Given the description of an element on the screen output the (x, y) to click on. 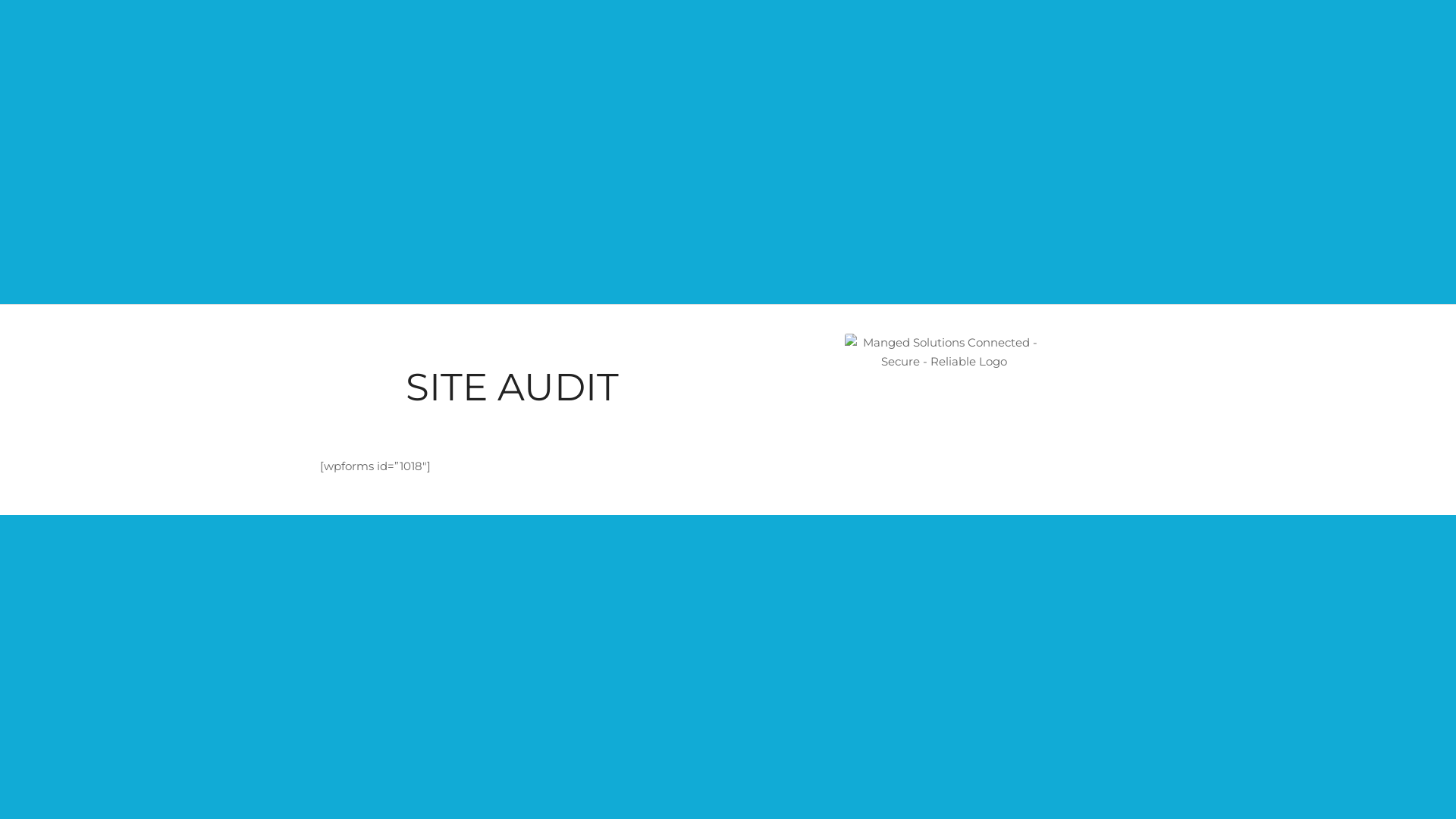
Manged Solutions Connected - Secure - Reliable Logo Element type: hover (943, 390)
